Given the description of an element on the screen output the (x, y) to click on. 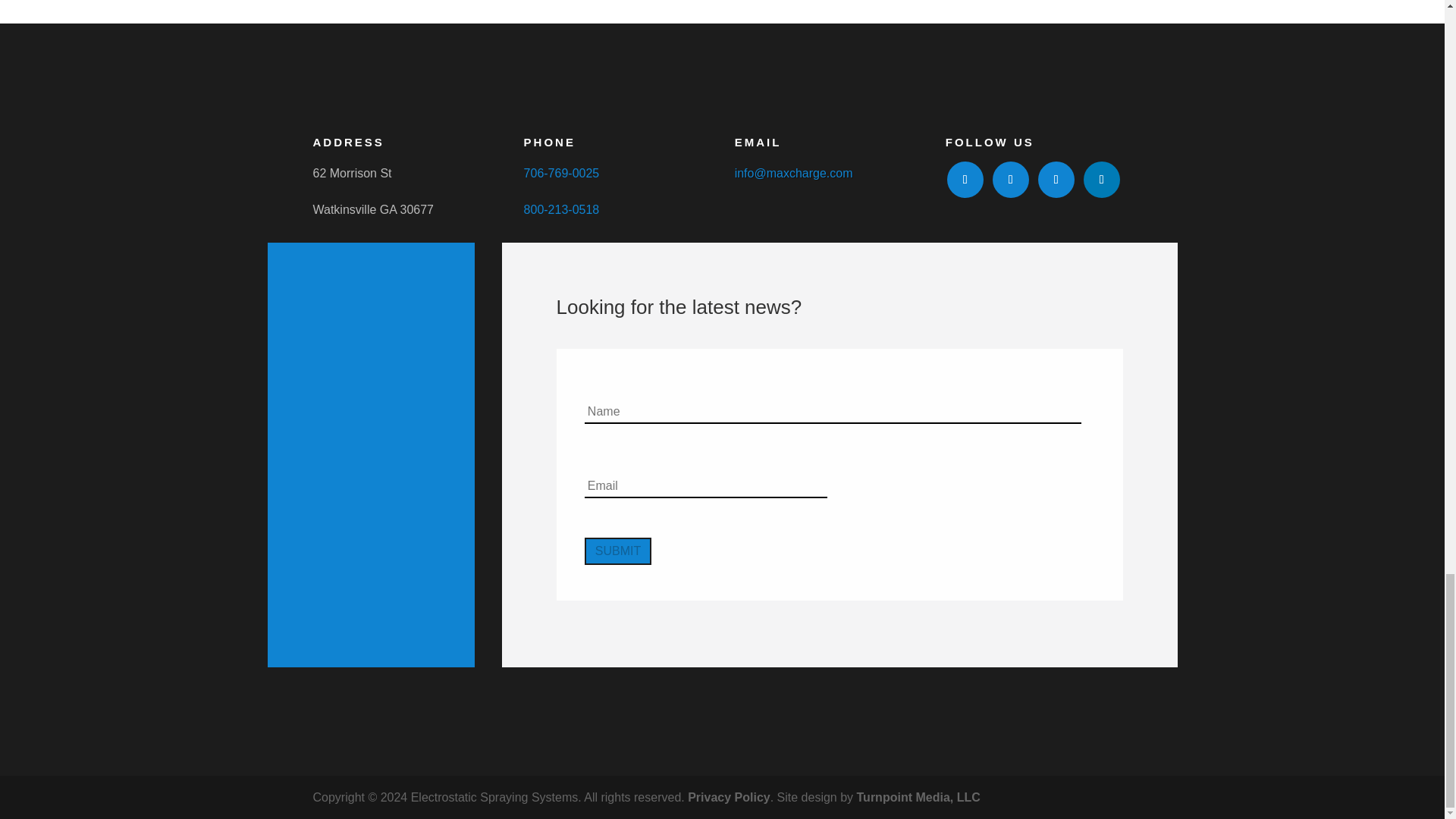
Submit (617, 551)
